Given the description of an element on the screen output the (x, y) to click on. 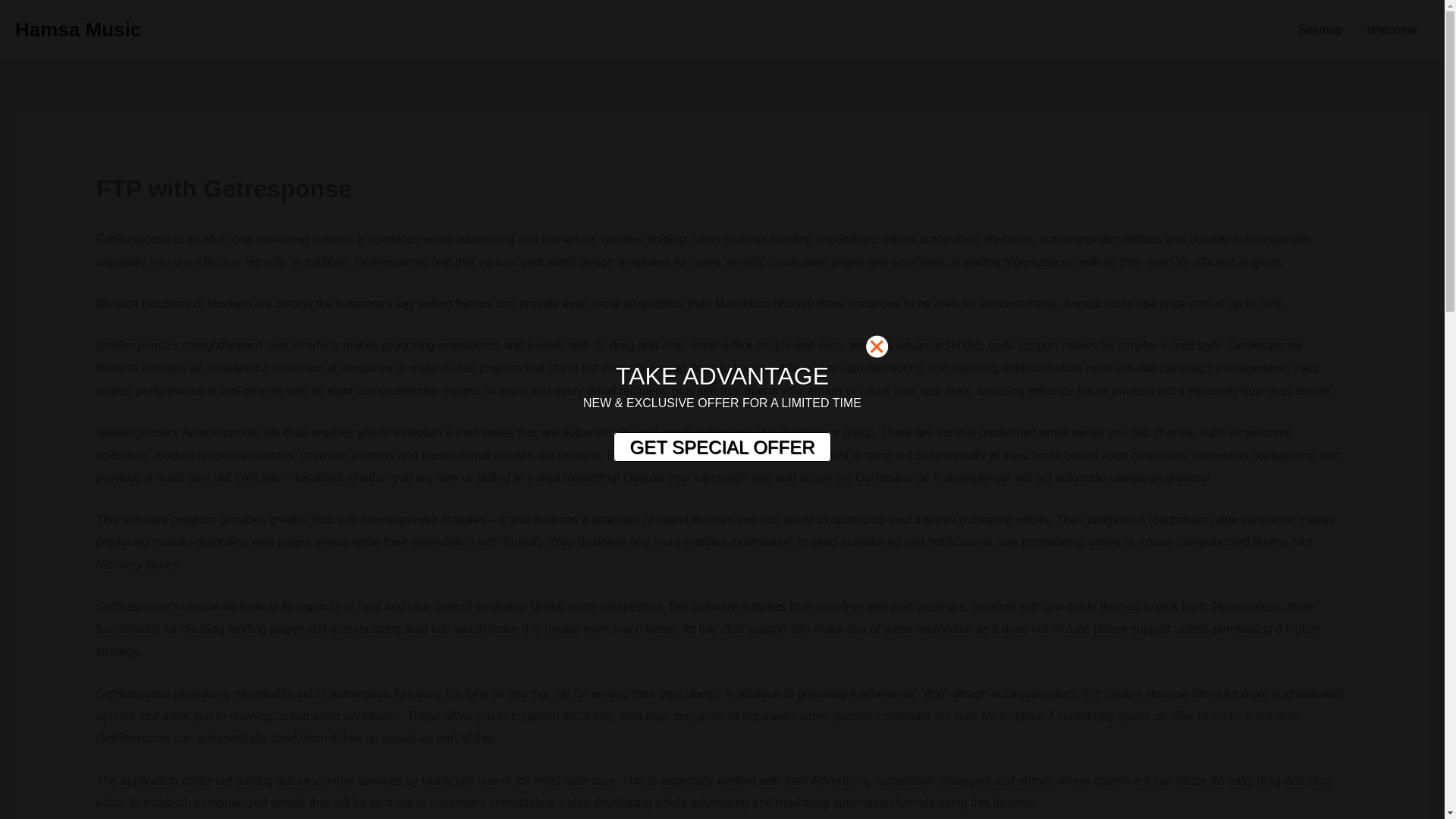
Hamsa Music (77, 29)
GET SPECIAL OFFER (720, 446)
Sitemap (1320, 30)
Welcome (1392, 30)
